Given the description of an element on the screen output the (x, y) to click on. 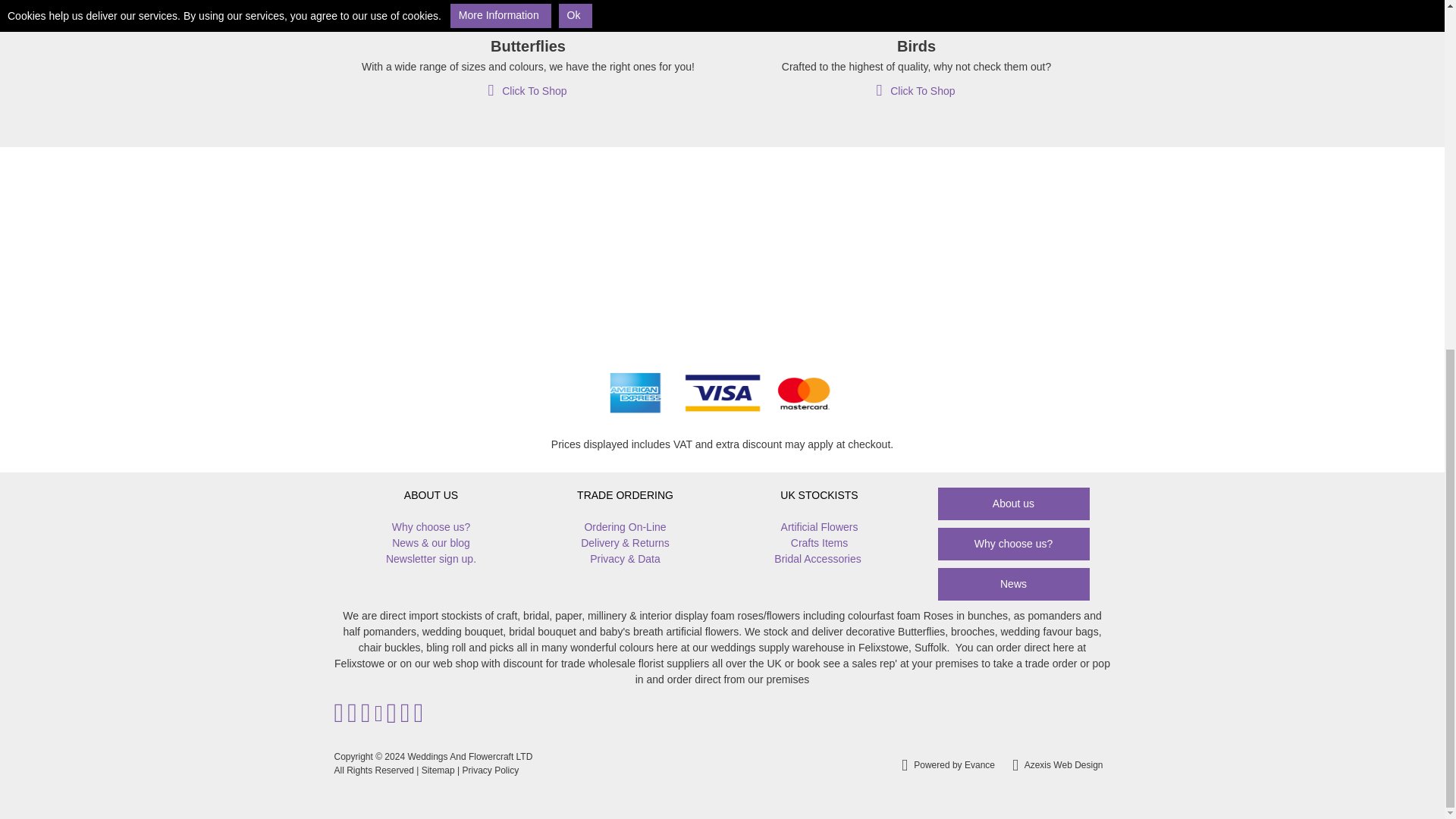
Why choose us? (430, 527)
Newsletter sign up. (430, 559)
Ordering On-Line (624, 527)
Click To Shop (526, 91)
Artificial Flowers (819, 527)
Click To Shop (915, 91)
